Given the description of an element on the screen output the (x, y) to click on. 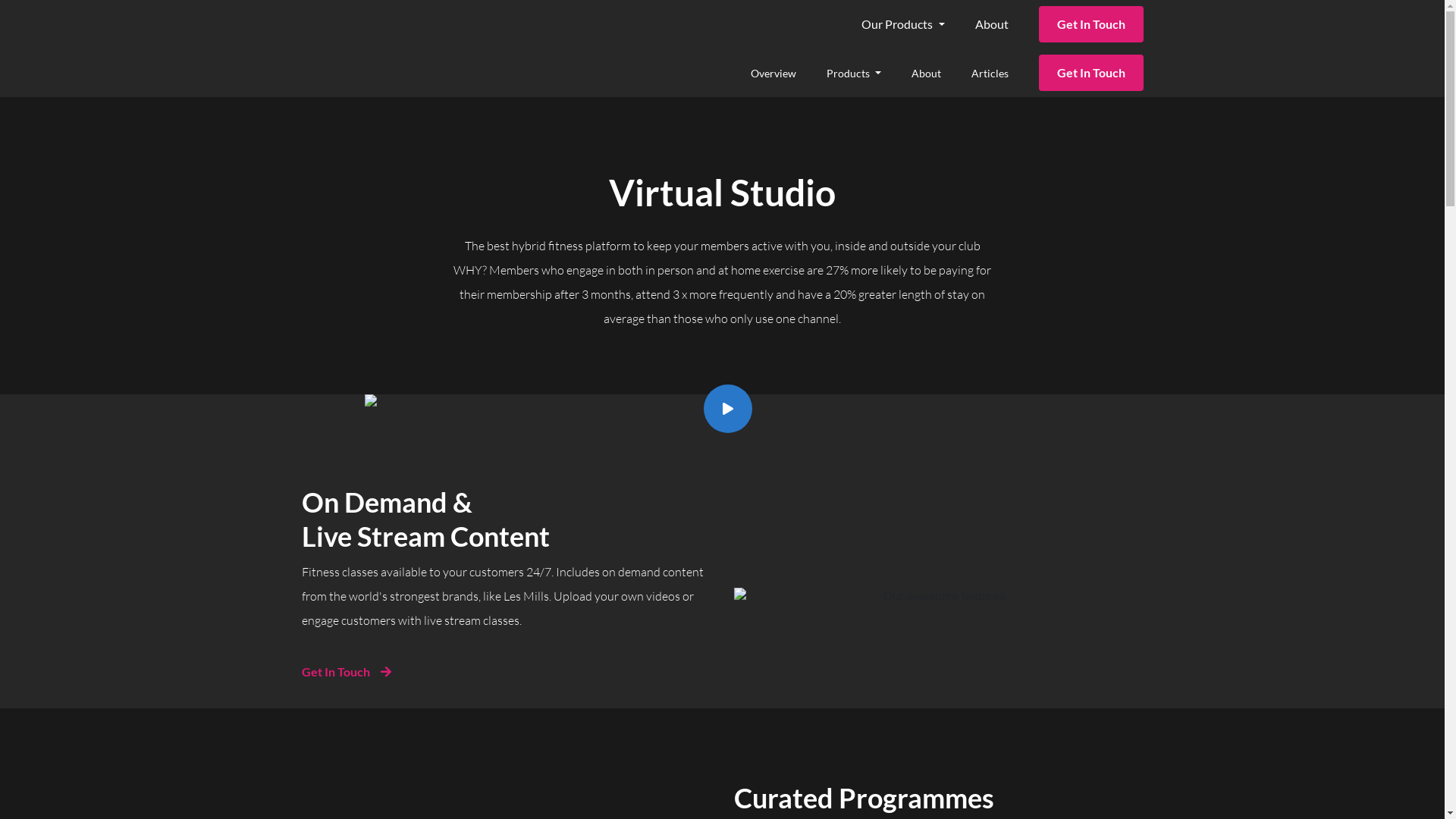
Get In Touch Element type: text (1090, 24)
Get In Touch Element type: text (347, 671)
About Element type: text (1000, 24)
Overview Element type: text (782, 73)
Get In Touch Element type: text (1090, 72)
About Element type: text (935, 73)
Products Element type: text (862, 73)
Articles Element type: text (998, 73)
Our Products Element type: text (911, 24)
